Given the description of an element on the screen output the (x, y) to click on. 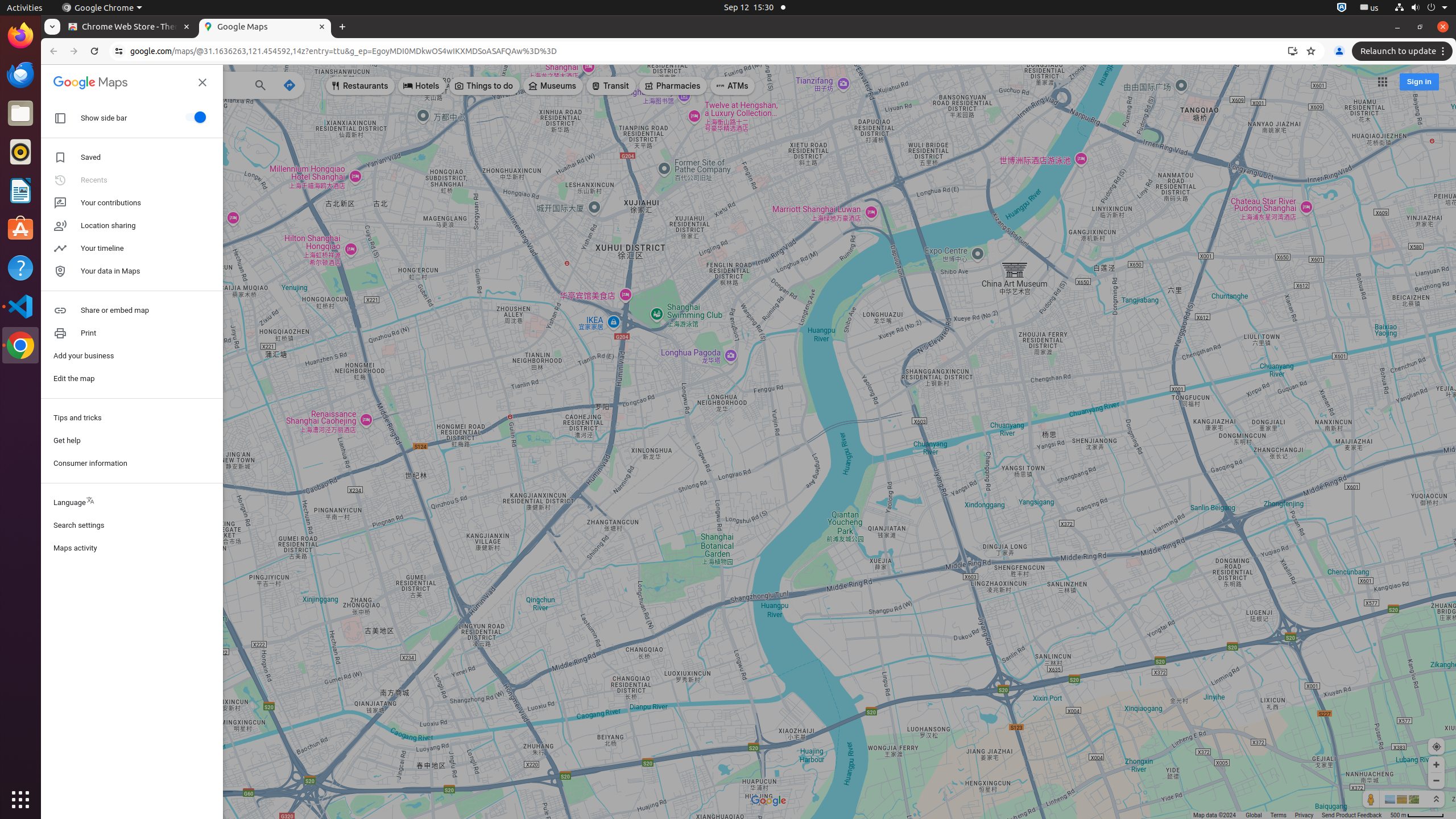
Directions Element type: push-button (289, 84)
Hotels Element type: push-button (422, 85)
Reload Element type: push-button (94, 50)
Google Chrome Element type: menu (101, 7)
New Tab Element type: push-button (342, 26)
